Given the description of an element on the screen output the (x, y) to click on. 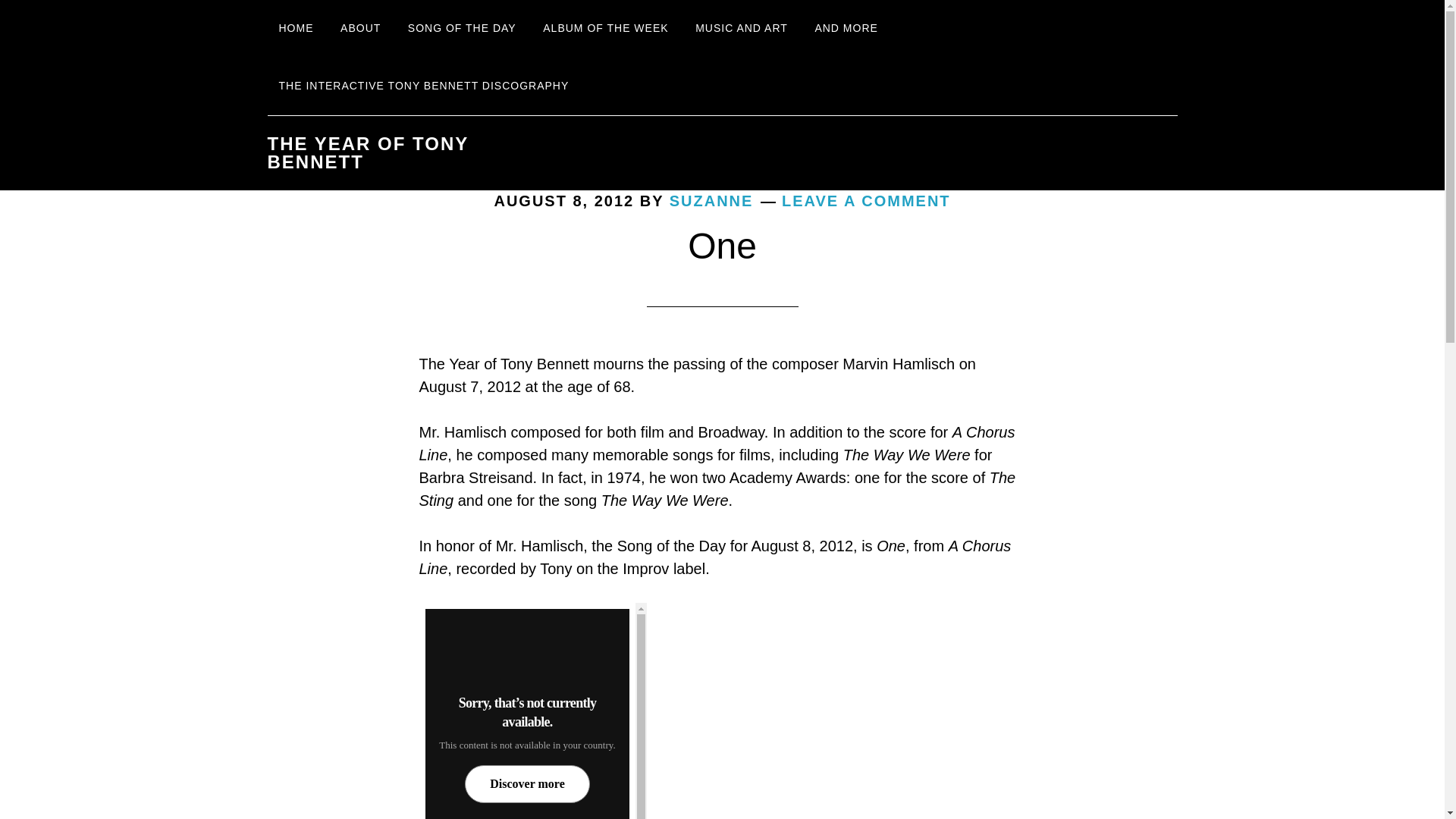
One (722, 246)
MUSIC AND ART (741, 28)
ALBUM OF THE WEEK (605, 28)
THE YEAR OF TONY BENNETT (366, 152)
LEAVE A COMMENT (865, 200)
HOME (295, 28)
THE INTERACTIVE TONY BENNETT DISCOGRAPHY (422, 86)
SUZANNE (711, 200)
AND MORE (845, 28)
SONG OF THE DAY (461, 28)
ABOUT (360, 28)
